Given the description of an element on the screen output the (x, y) to click on. 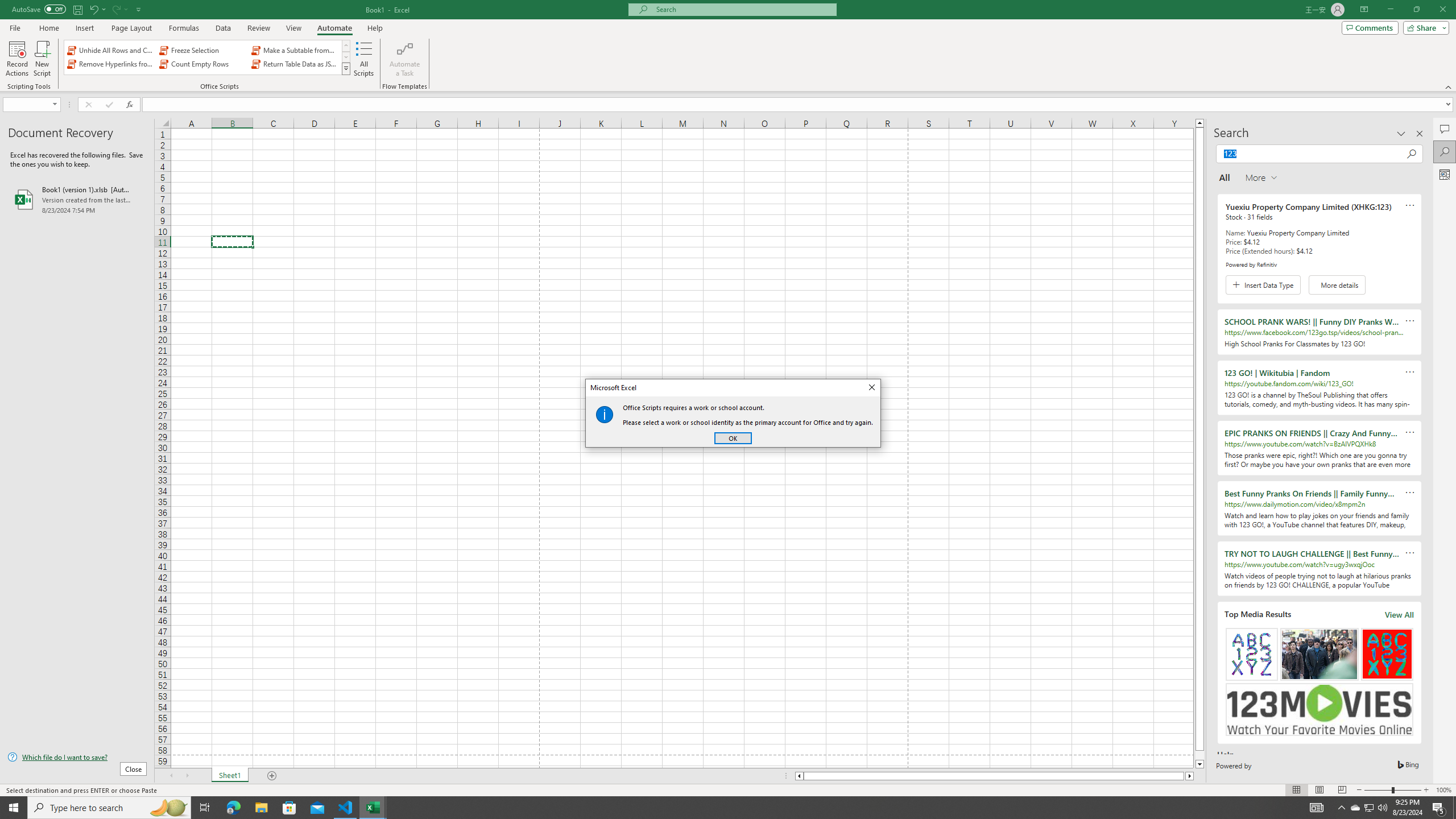
Office Scripts (346, 68)
User Promoted Notification Area (1368, 807)
Count Empty Rows (1368, 807)
Remove Hyperlinks from Sheet (202, 64)
